Given the description of an element on the screen output the (x, y) to click on. 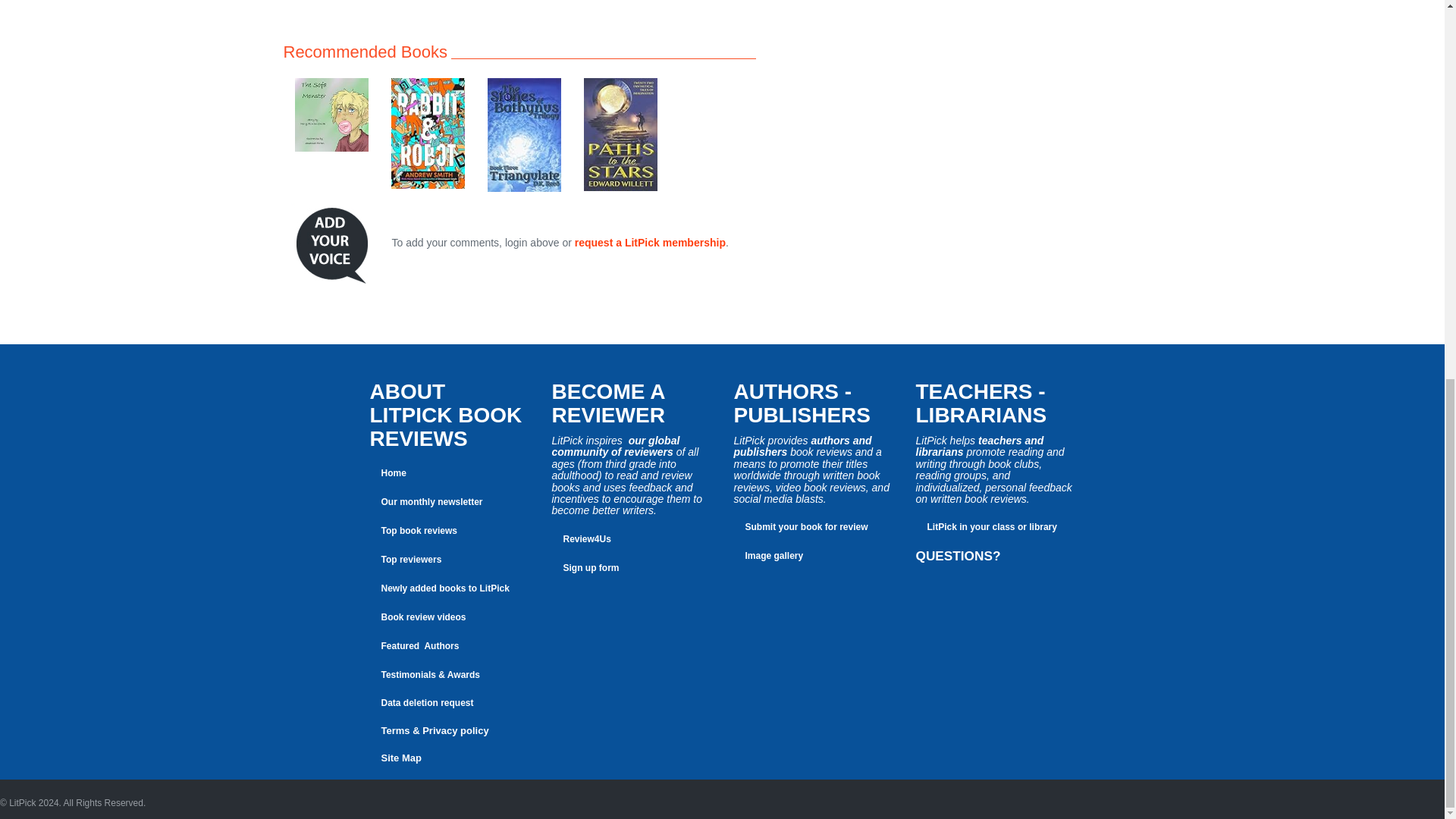
request a LitPick membership (650, 242)
